Given the description of an element on the screen output the (x, y) to click on. 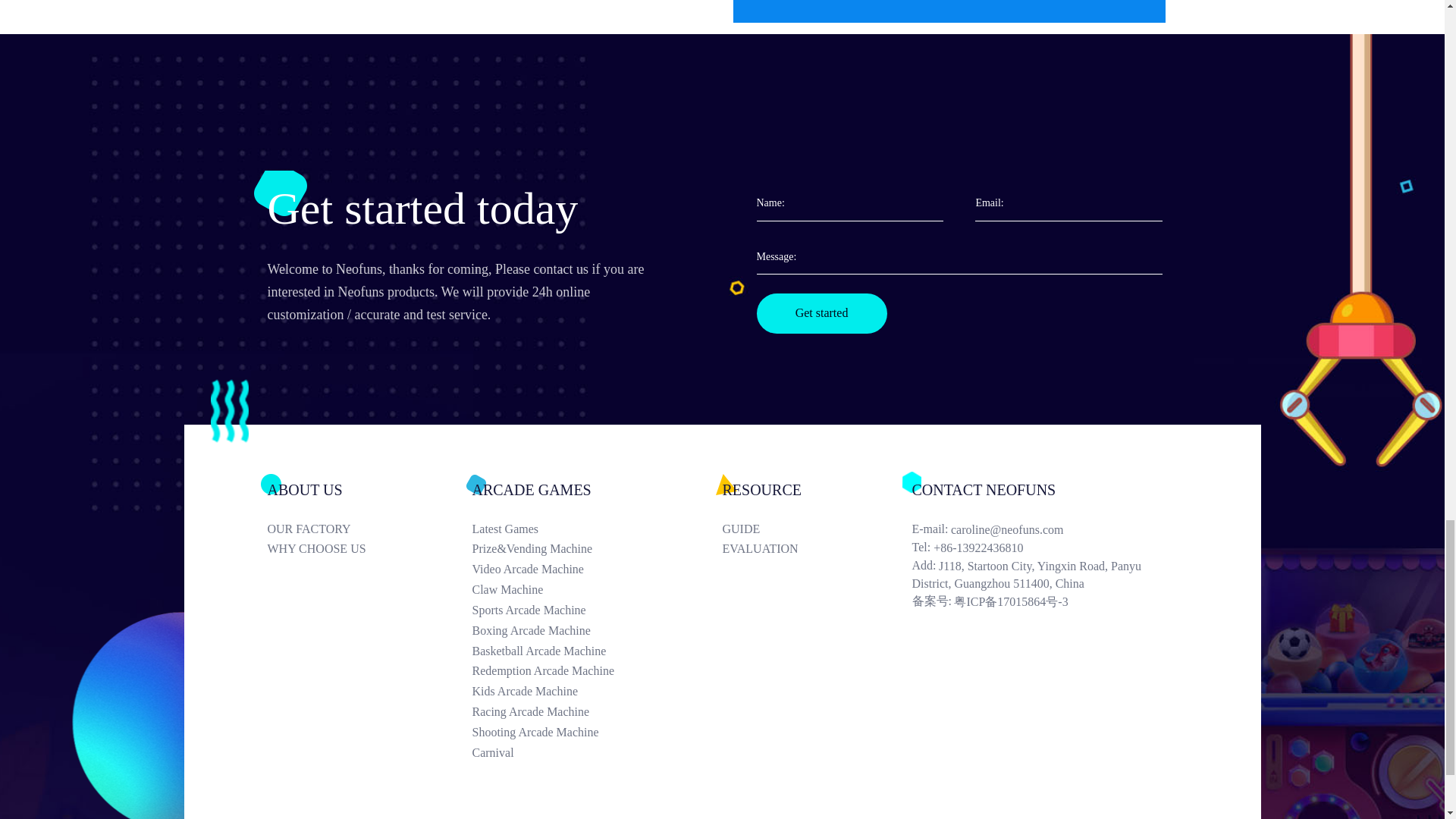
Claw Machine (596, 589)
Send (949, 11)
Latest Games (596, 529)
Video Arcade Machine (596, 569)
Sports Arcade Machine (596, 610)
Get started (821, 313)
WHY CHOOSE US (368, 548)
OUR FACTORY (368, 529)
